Given the description of an element on the screen output the (x, y) to click on. 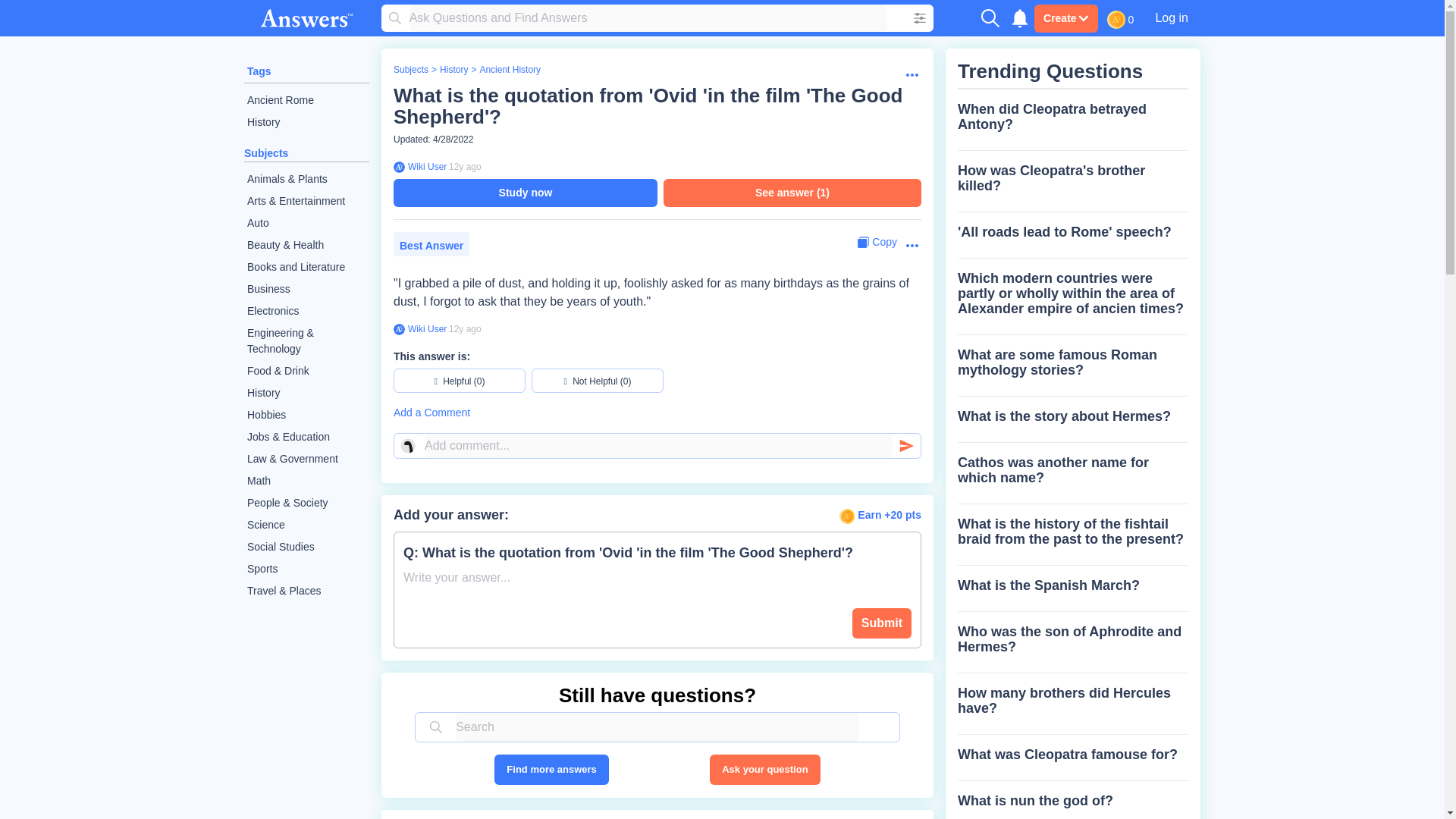
History (453, 69)
Science (306, 525)
Social Studies (306, 546)
Hobbies (306, 414)
Electronics (306, 311)
Math (306, 481)
History (306, 122)
Ancient Rome (306, 100)
Business (306, 289)
Books and Literature (306, 267)
Copy (876, 242)
Study now (525, 193)
Subjects (266, 152)
Auto (306, 223)
History (306, 393)
